Given the description of an element on the screen output the (x, y) to click on. 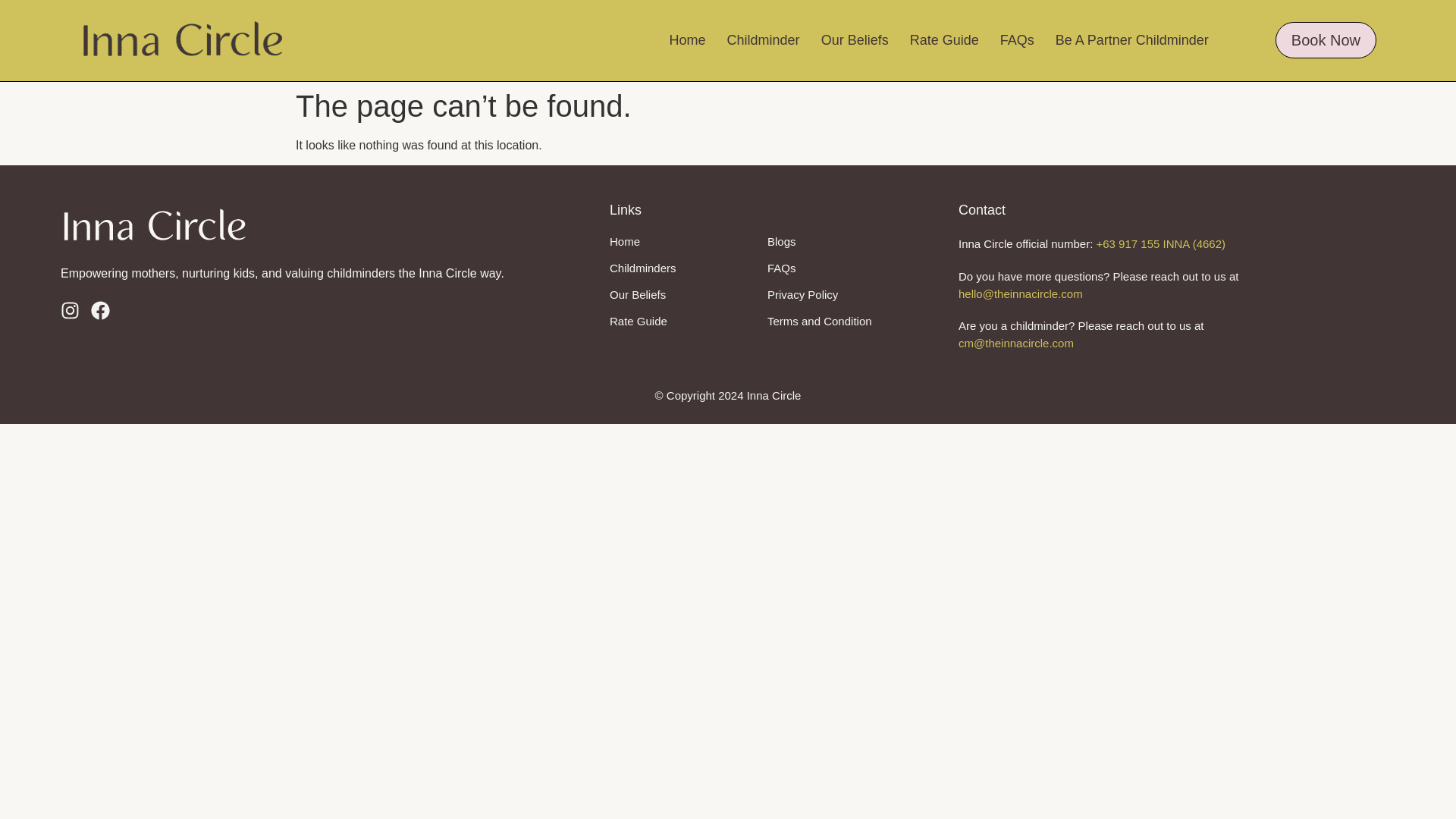
Book Now (1325, 40)
Home (687, 39)
Terms and Condition (819, 320)
Be A Partner Childminder (1131, 39)
Home (625, 241)
Our Beliefs (637, 294)
Blogs (781, 241)
Privacy Policy (802, 294)
Childminders (643, 267)
Rate Guide (638, 320)
